Given the description of an element on the screen output the (x, y) to click on. 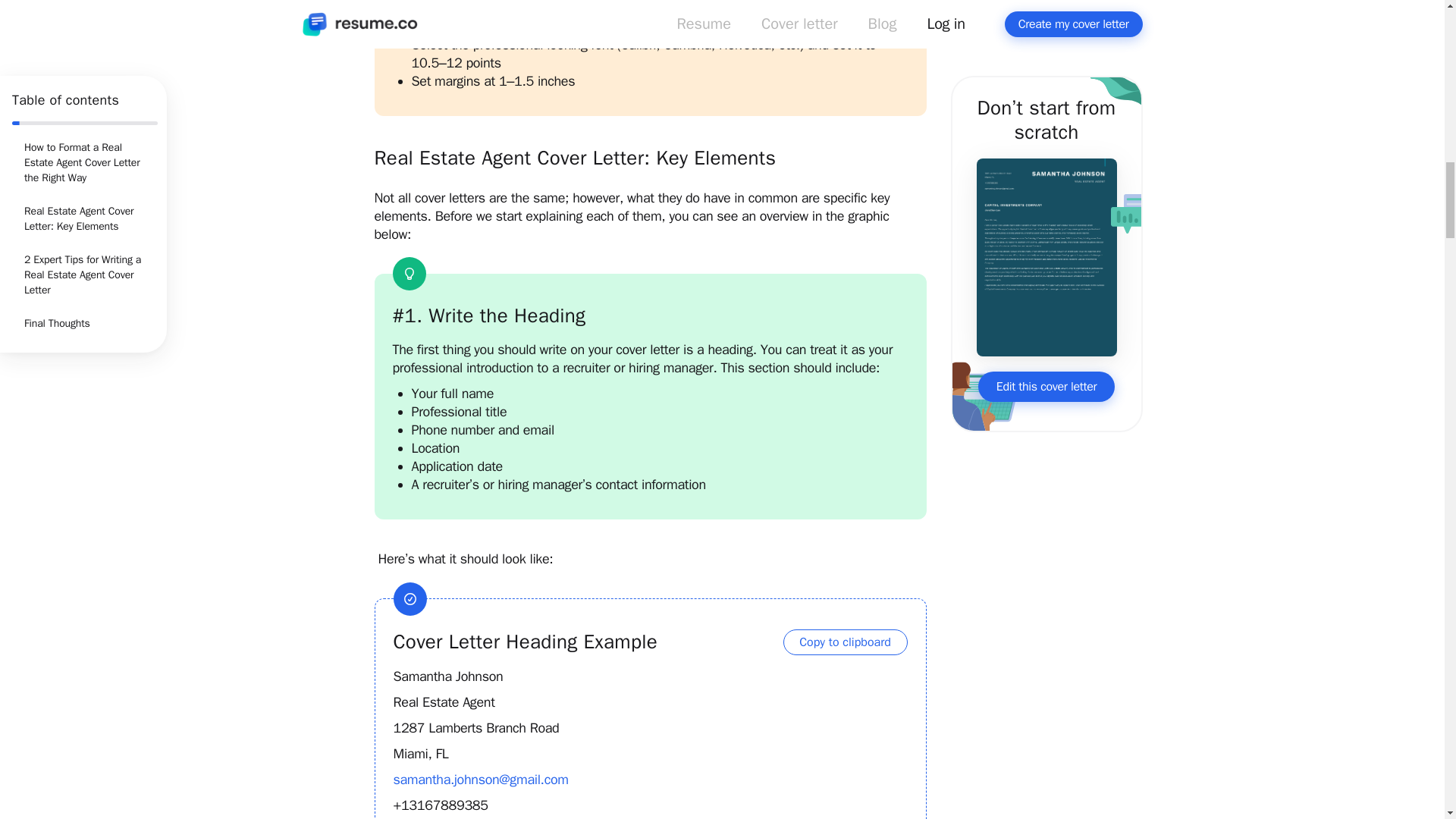
Copy to clipboard (845, 642)
